Given the description of an element on the screen output the (x, y) to click on. 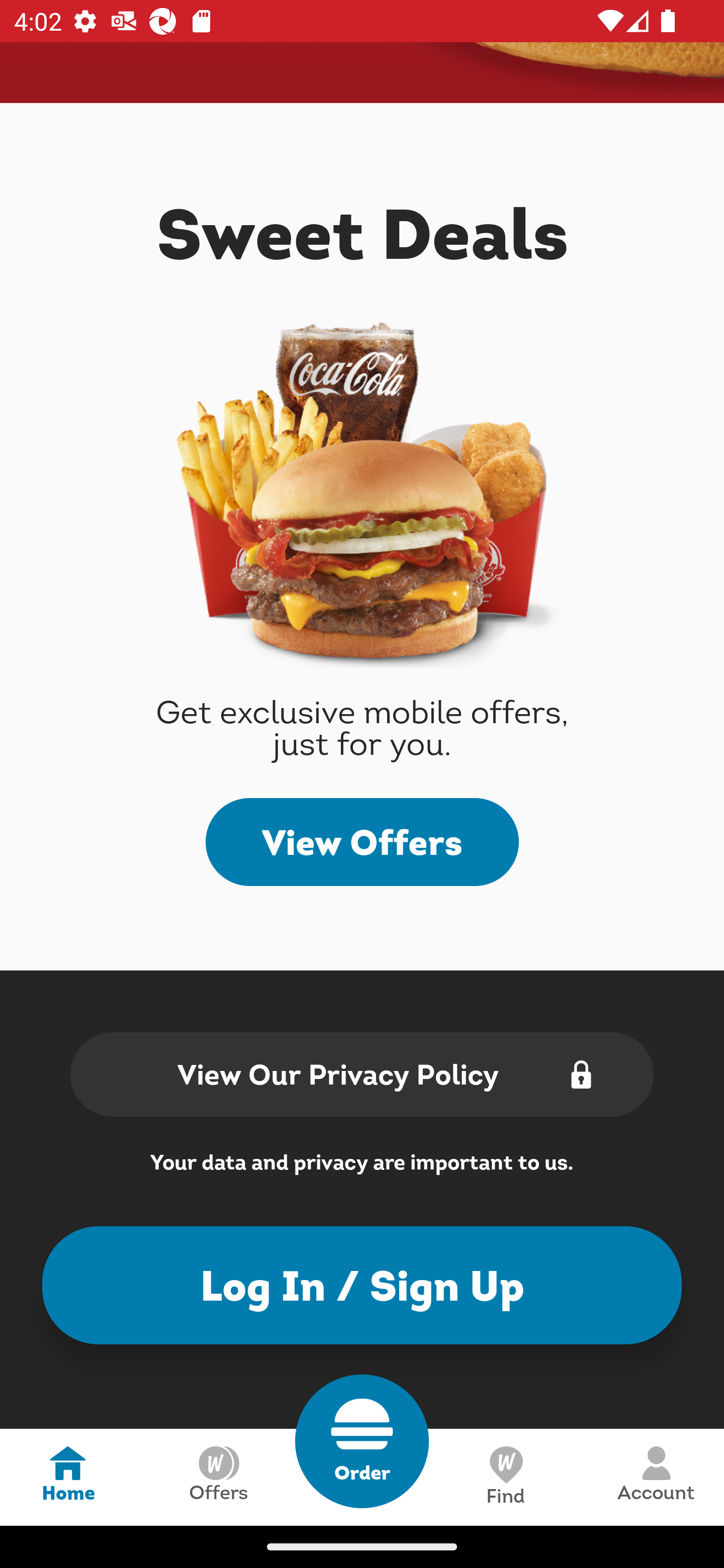
View Offers (362, 841)
View Our Privacy Policy (361, 1073)
Log In / Sign Up (361, 1284)
Order,3 of 5 Order (361, 1441)
Home,1 of 5 Home (68, 1476)
Rewards,2 of 5 Offers Offers (218, 1476)
Scan,4 of 5 Find Find (505, 1476)
Account,5 of 5 Account (655, 1476)
